Given the description of an element on the screen output the (x, y) to click on. 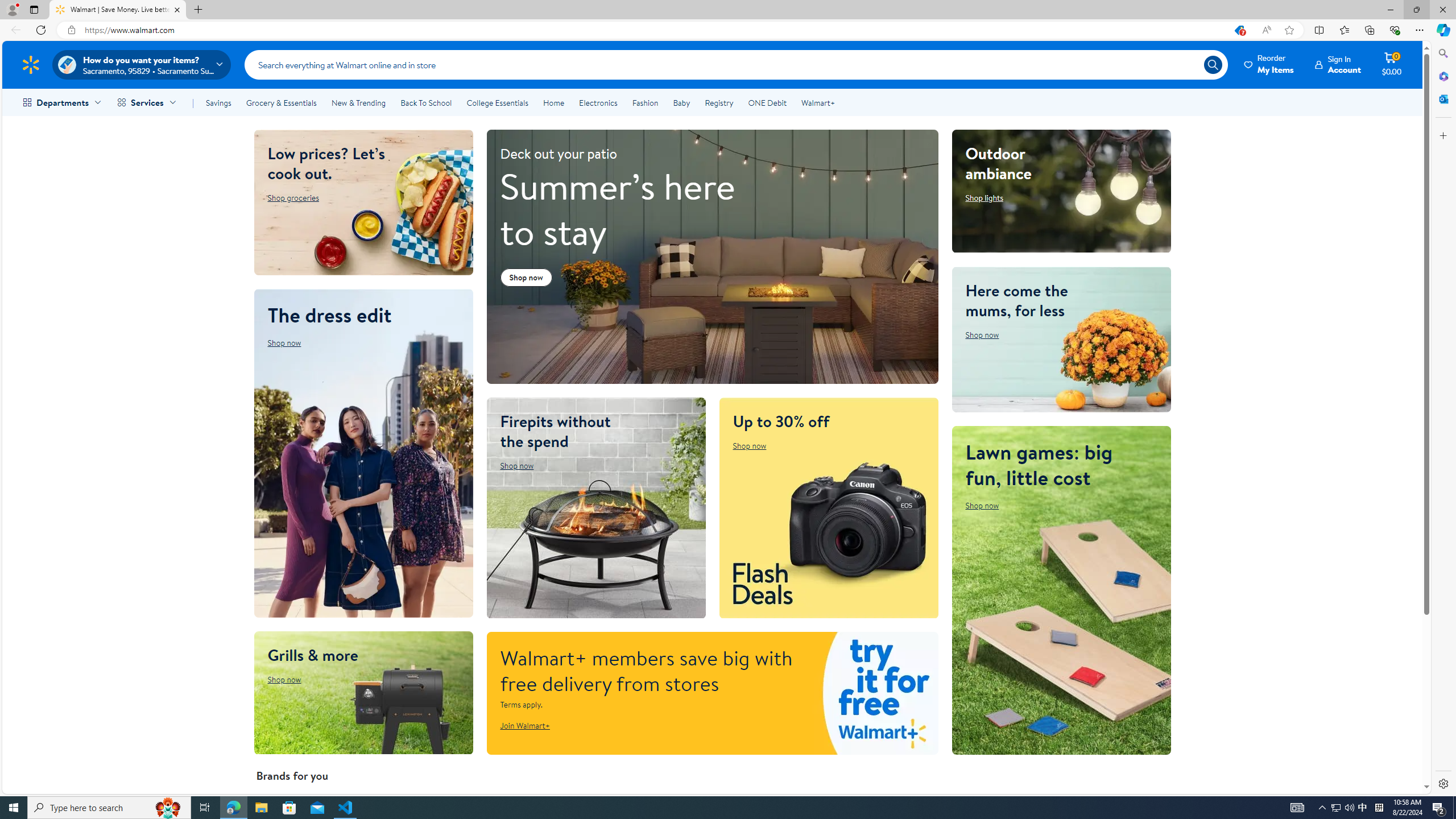
This site has coupons! Shopping in Microsoft Edge, 7 (1239, 29)
Class: dn db-hdkp ml2 relative (1338, 64)
Walmart Plus (712, 693)
Baby (681, 102)
